Given the description of an element on the screen output the (x, y) to click on. 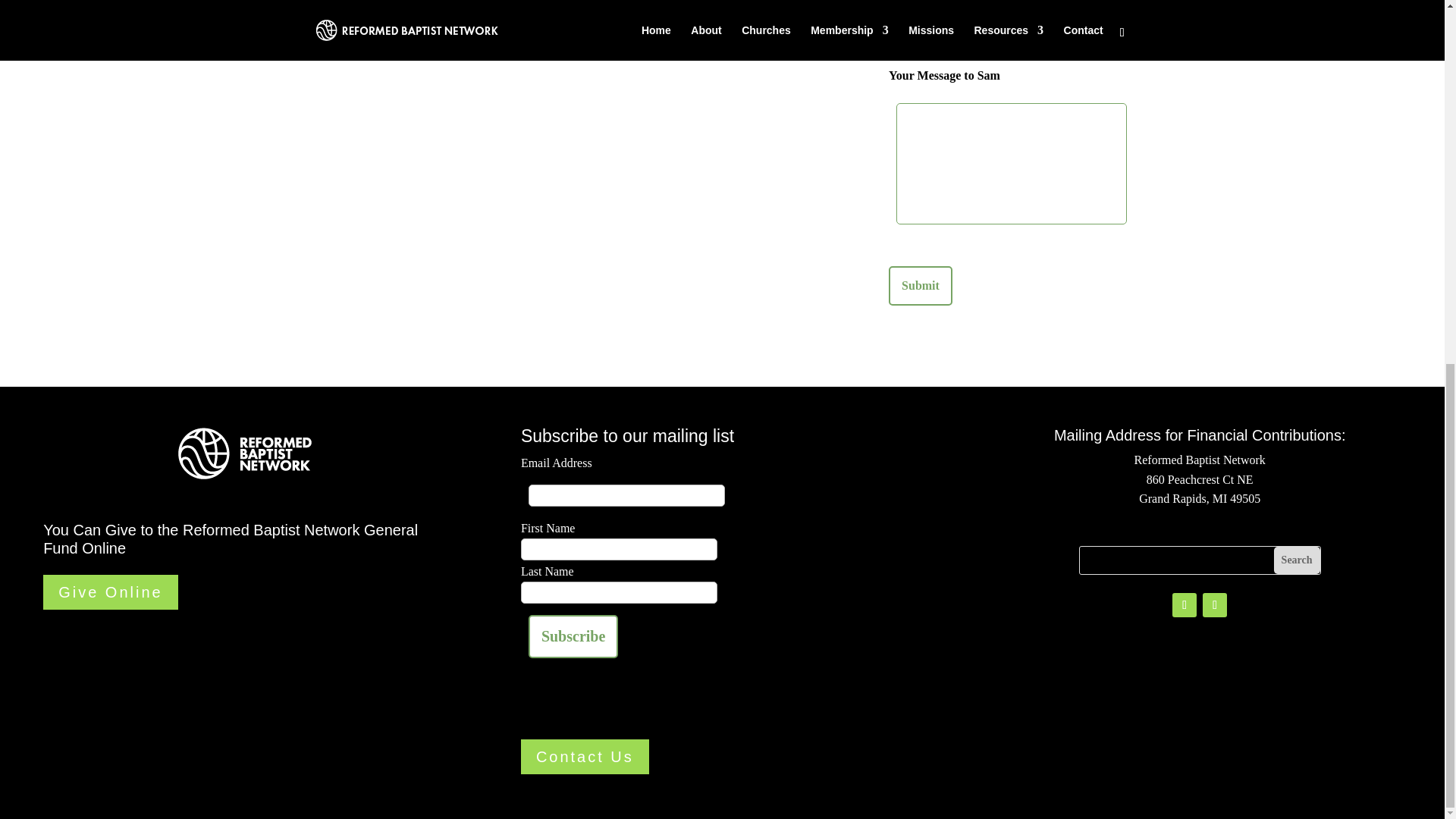
Search (1297, 560)
Search (1297, 560)
Back to Missions Page (398, 33)
Subscribe (572, 636)
Follow on Vimeo (1214, 604)
Follow on Facebook (1184, 604)
Submit (920, 285)
